Given the description of an element on the screen output the (x, y) to click on. 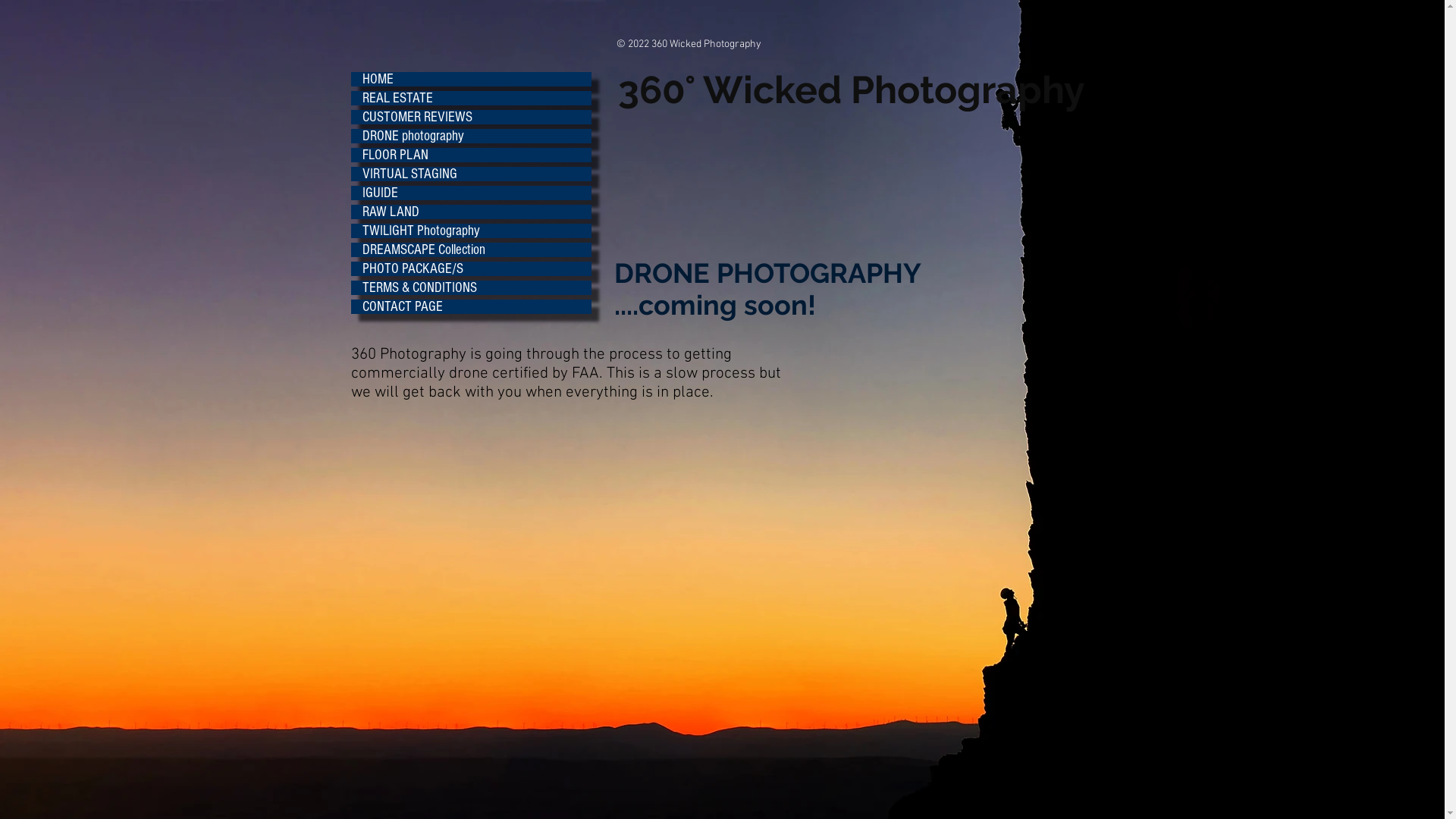
TERMS & CONDITIONS Element type: text (470, 287)
REAL ESTATE Element type: text (470, 98)
IGUIDE Element type: text (470, 192)
FLOOR PLAN Element type: text (470, 154)
PHOTO PACKAGE/S Element type: text (470, 268)
CONTACT PAGE Element type: text (470, 306)
TWIPLA (Visitor Analytics) Element type: hover (464, 671)
DRONE photography Element type: text (470, 135)
CUSTOMER REVIEWS Element type: text (470, 116)
TWILIGHT Photography Element type: text (470, 230)
HOME Element type: text (470, 79)
RAW LAND Element type: text (470, 211)
VIRTUAL STAGING Element type: text (470, 173)
DREAMSCAPE Collection Element type: text (470, 249)
